Given the description of an element on the screen output the (x, y) to click on. 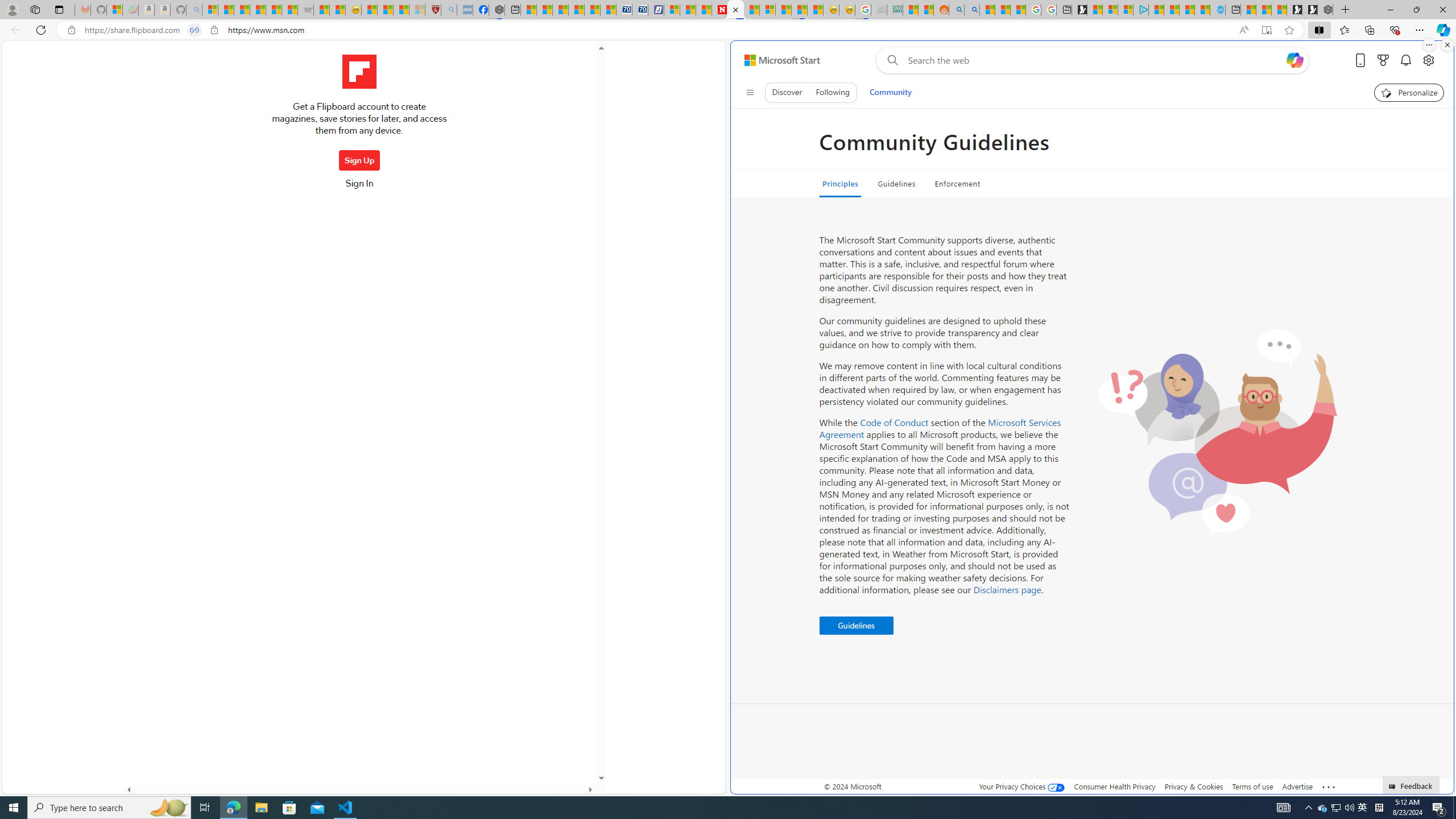
New Report Confirms 2023 Was Record Hot | Watch (273, 9)
Your Privacy Choices (1021, 785)
